Given the description of an element on the screen output the (x, y) to click on. 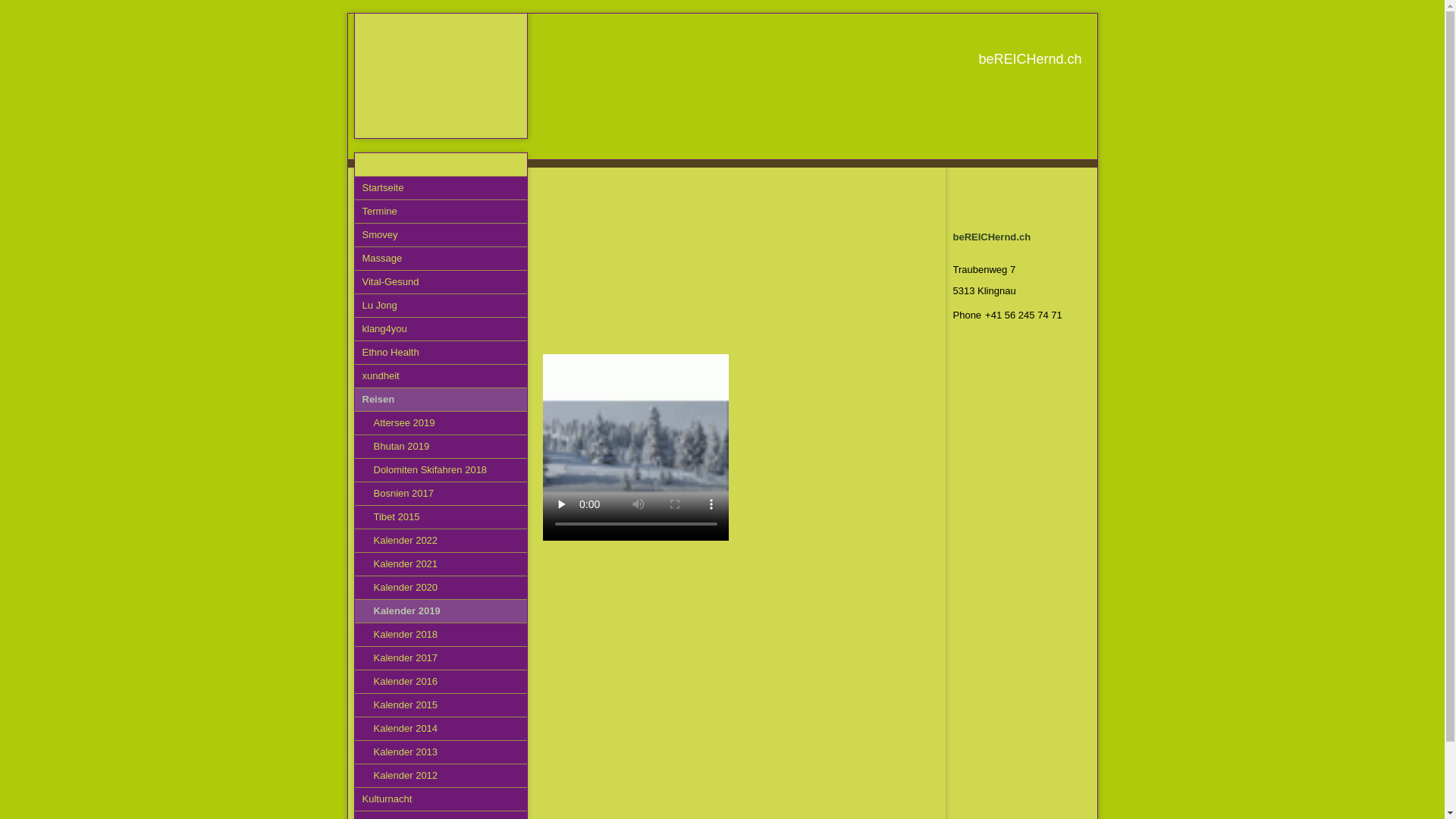
Kalender 2021 Element type: text (440, 564)
Ethno Health Element type: text (440, 352)
Kalender 2017 Element type: text (440, 658)
Reisen Element type: text (440, 399)
klang4you Element type: text (440, 329)
xundheit Element type: text (440, 376)
Bosnien 2017 Element type: text (440, 493)
Kalender 2020 Element type: text (440, 587)
Termine Element type: text (440, 211)
Massage Element type: text (440, 258)
Kalender 2022 Element type: text (440, 540)
Kalender 2015 Element type: text (440, 705)
Kalender 2013 Element type: text (440, 752)
Kalender 2018 Element type: text (440, 634)
Vital-Gesund Element type: text (440, 282)
Kalender 2016 Element type: text (440, 681)
Smovey Element type: text (440, 235)
Startseite Element type: text (440, 188)
Kalender 2014 Element type: text (440, 728)
Kalender 2019 Element type: text (440, 611)
Tibet 2015 Element type: text (440, 517)
Kalender 2012 Element type: text (440, 775)
Dolomiten Skifahren 2018 Element type: text (440, 470)
Kulturnacht Element type: text (440, 799)
Attersee 2019 Element type: text (440, 423)
Bhutan 2019 Element type: text (440, 446)
Lu Jong Element type: text (440, 305)
